Given the description of an element on the screen output the (x, y) to click on. 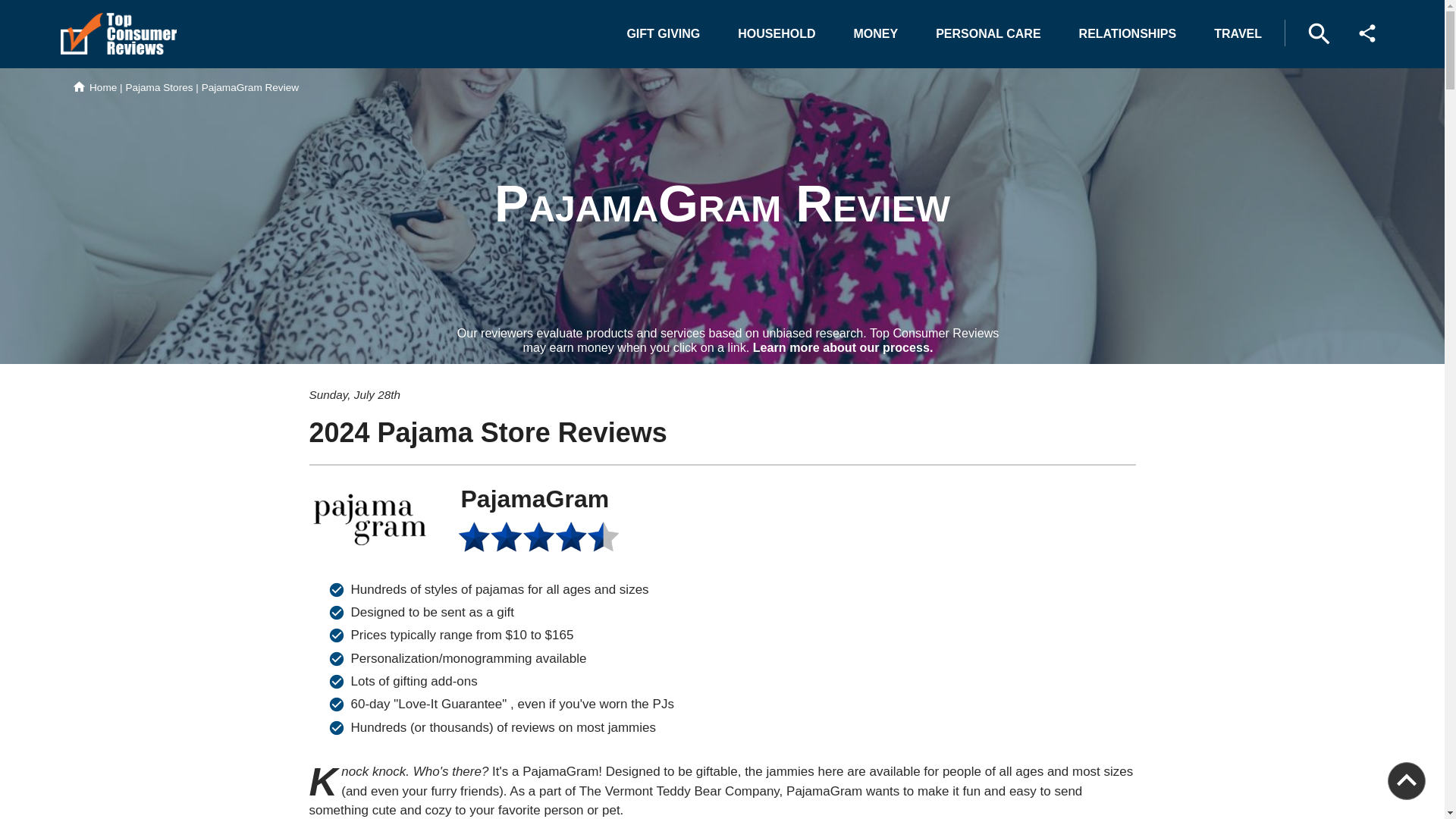
TRAVEL (1237, 33)
HOUSEHOLD (775, 33)
PERSONAL CARE (987, 33)
RELATIONSHIPS (1128, 33)
GIFT GIVING (662, 33)
MONEY (876, 33)
Search Top Consumer Reviews (1318, 33)
Share Top Consumer Reviews (1367, 32)
